Given the description of an element on the screen output the (x, y) to click on. 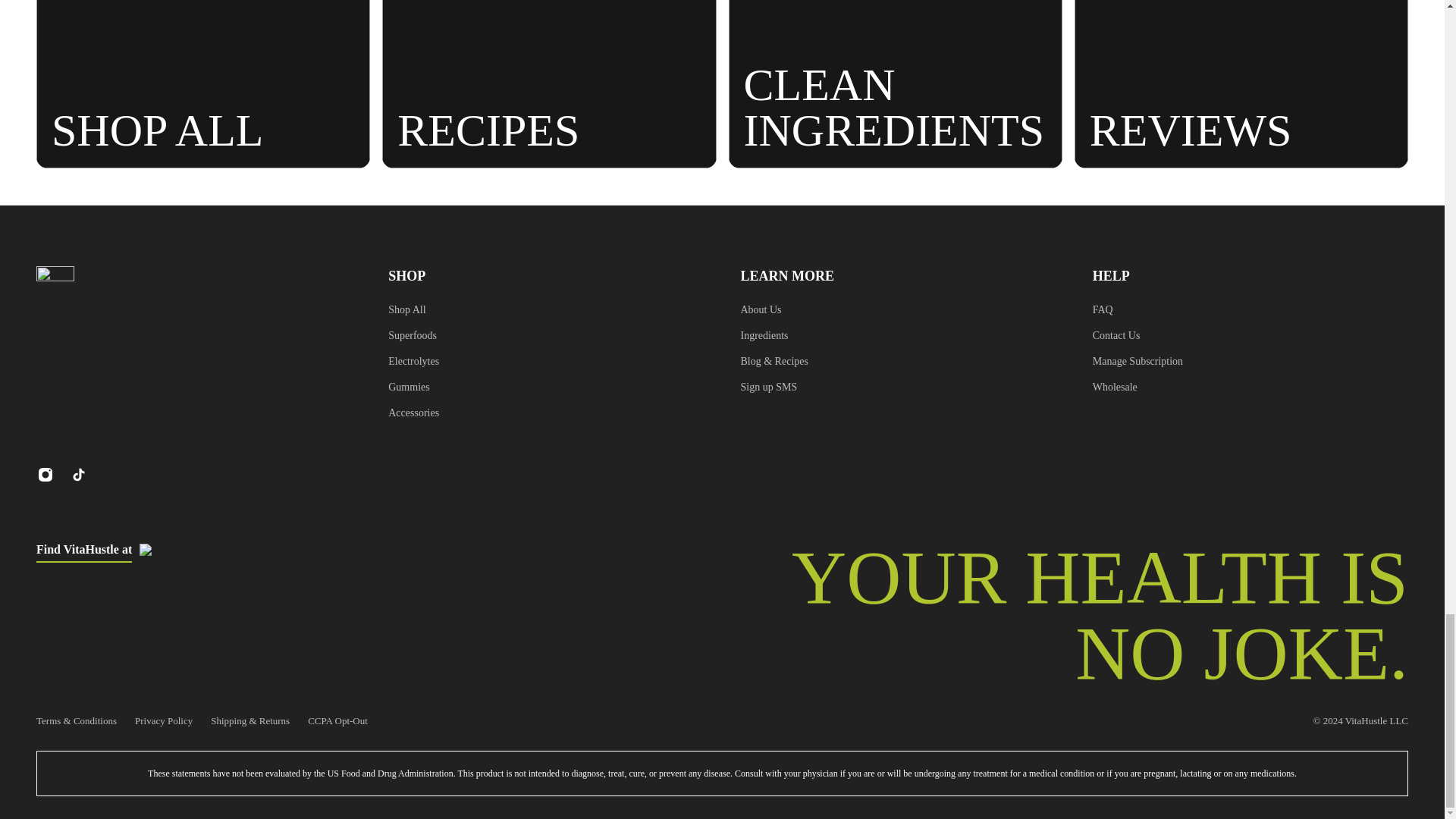
Ingredients (773, 335)
Superfoods (413, 335)
FAQ (1137, 310)
Sign up SMS (773, 387)
Gummies (413, 387)
Shop All (413, 310)
Contact Us (1137, 335)
Wholesale (1137, 387)
Electrolytes (413, 361)
Manage Subscription (1137, 361)
